Given the description of an element on the screen output the (x, y) to click on. 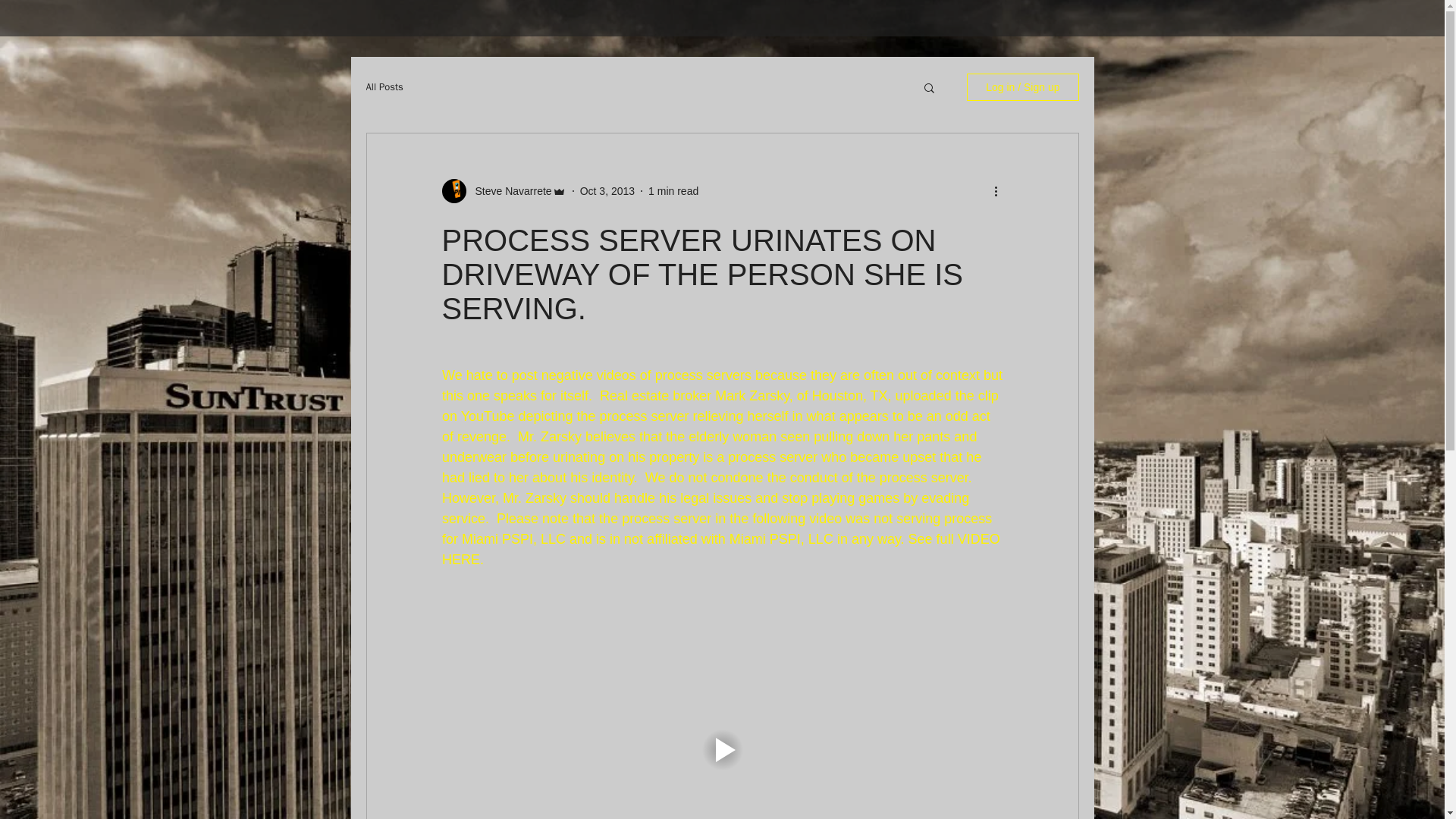
1 min read (672, 191)
Oct 3, 2013 (606, 191)
Steve Navarrete (508, 191)
All Posts (384, 87)
